Given the description of an element on the screen output the (x, y) to click on. 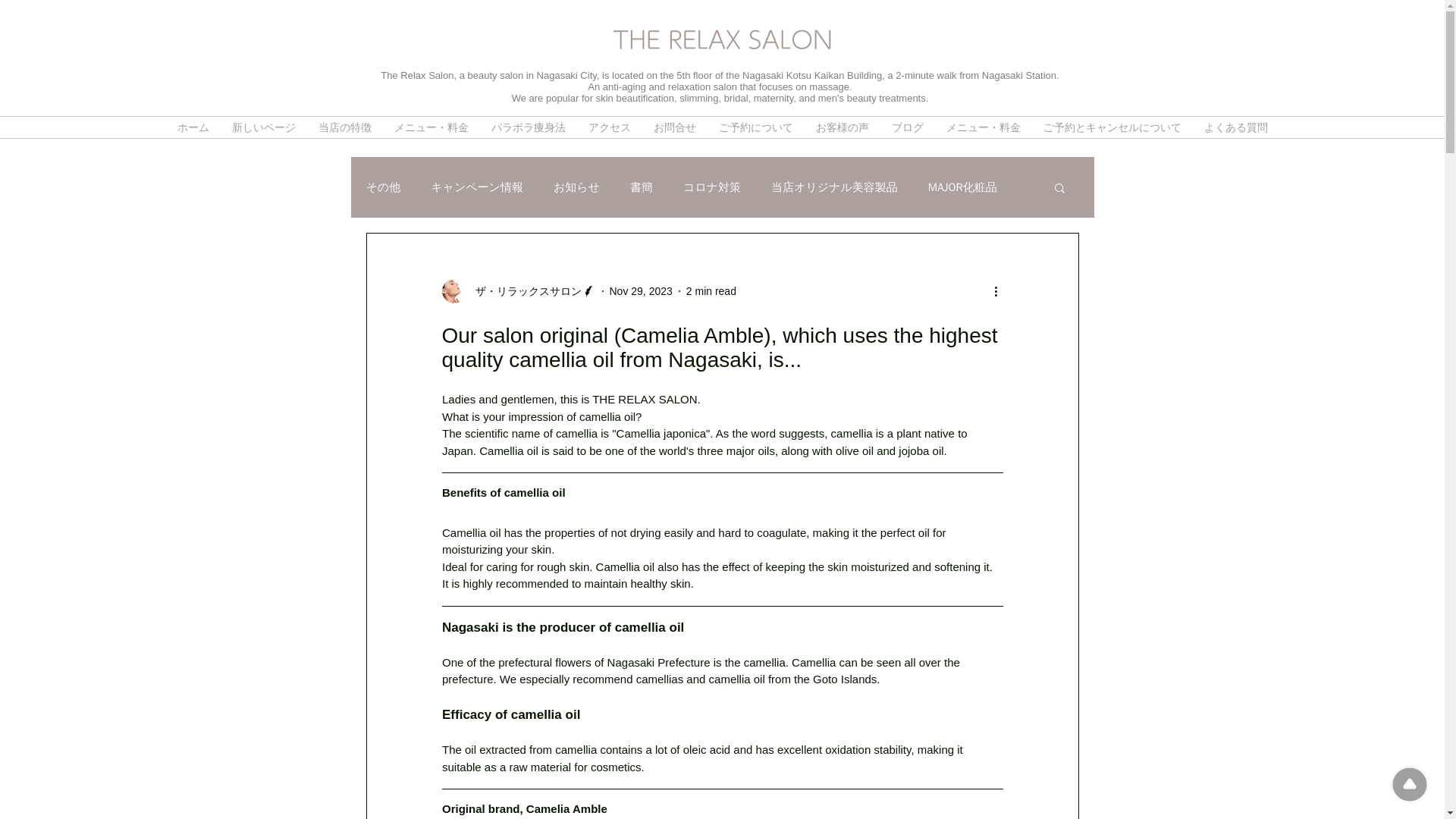
Nov 29, 2023 (641, 291)
2 min read (710, 291)
Nagasaki Massage Esthe The Relax Salon (721, 38)
